Given the description of an element on the screen output the (x, y) to click on. 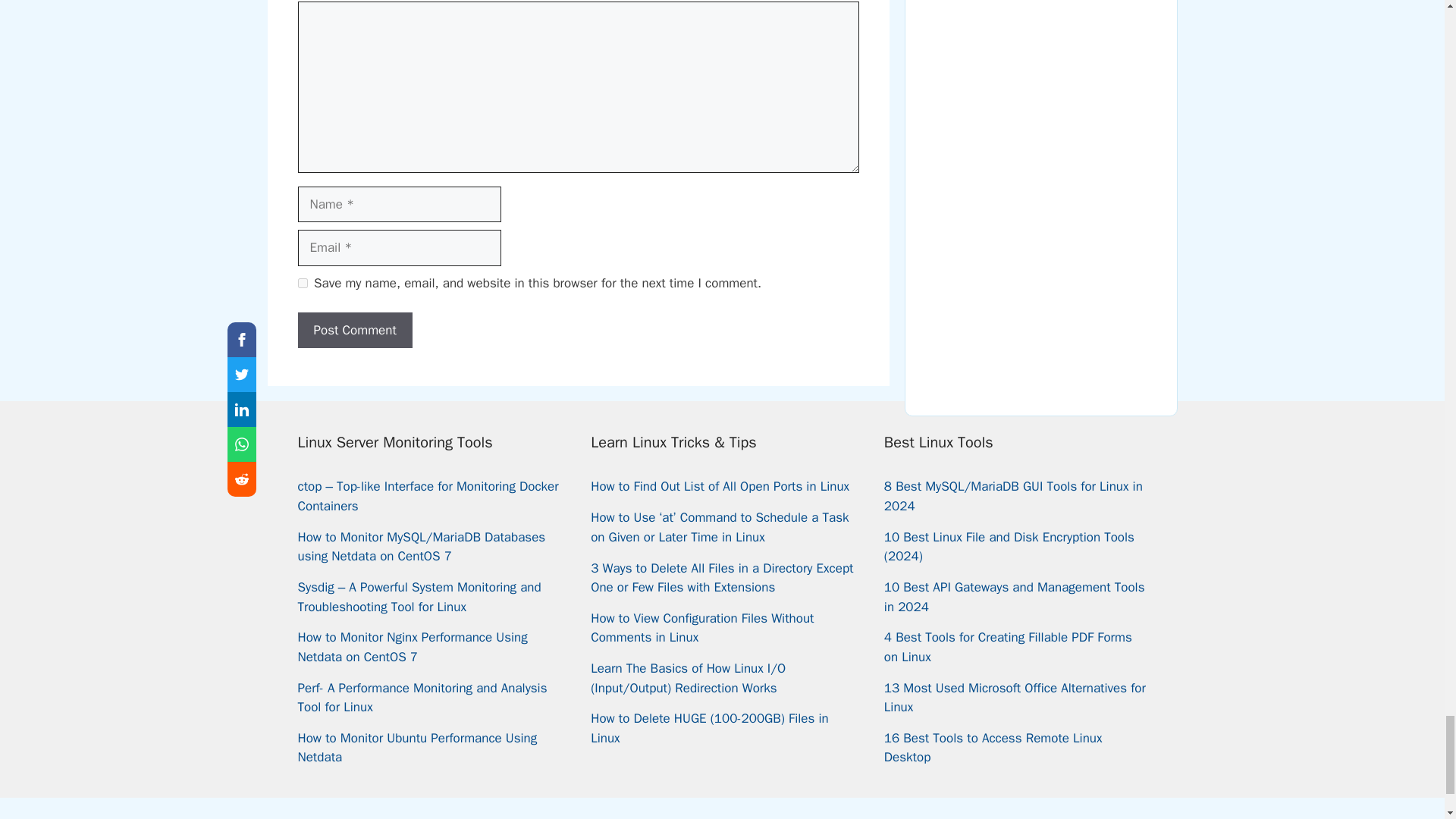
yes (302, 283)
Post Comment (354, 330)
